Given the description of an element on the screen output the (x, y) to click on. 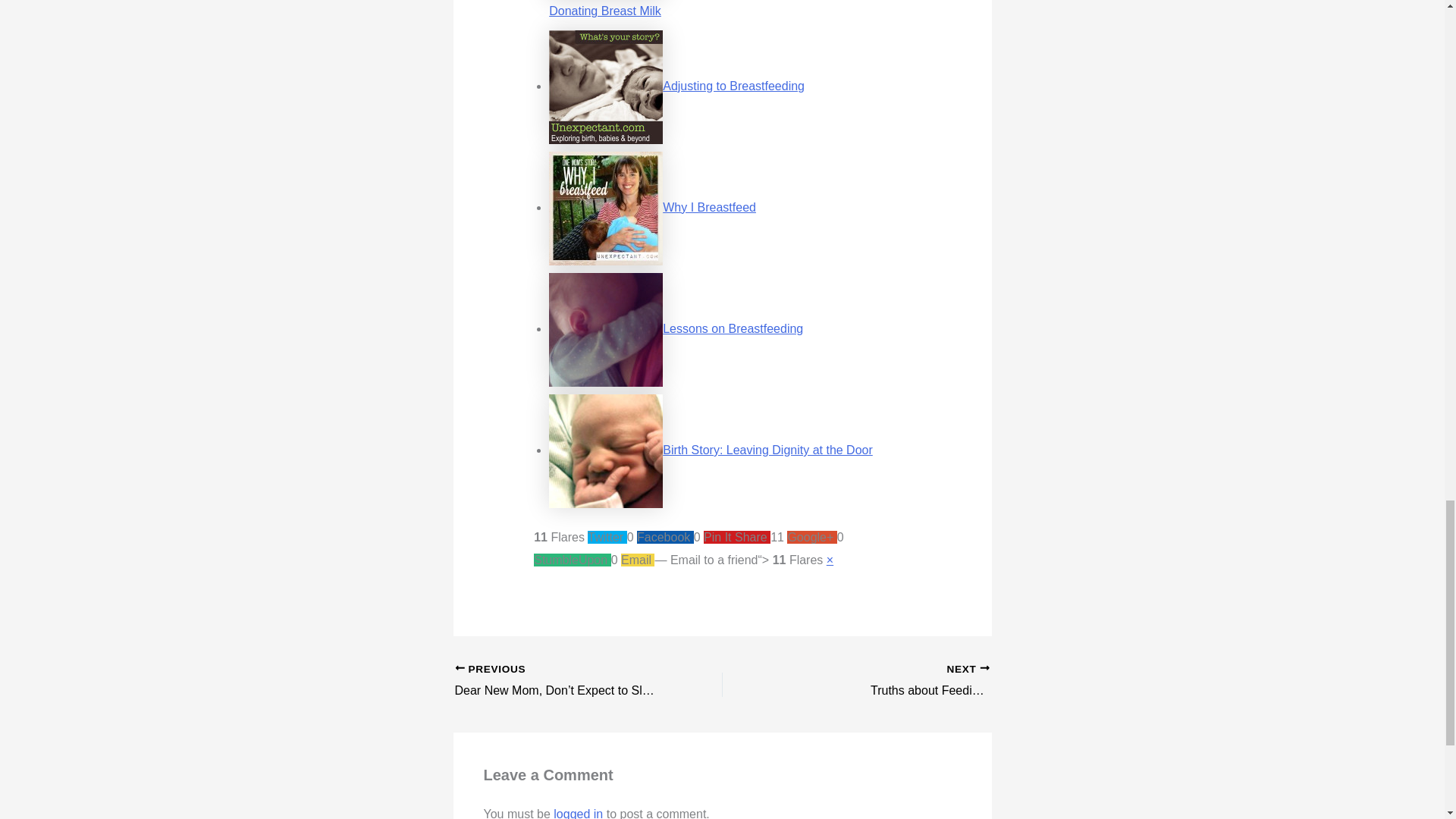
Dear New Mom, Don't Expect to Sleep (561, 681)
logged in (577, 813)
Lessons on Breastfeeding (732, 328)
Adjusting to Breastfeeding (733, 85)
Truths about Feeding a One-Year-Old (923, 681)
"Email (923, 681)
Birth Story: Leaving Dignity at the Door (718, 559)
Why I Breastfeed (767, 449)
